Given the description of an element on the screen output the (x, y) to click on. 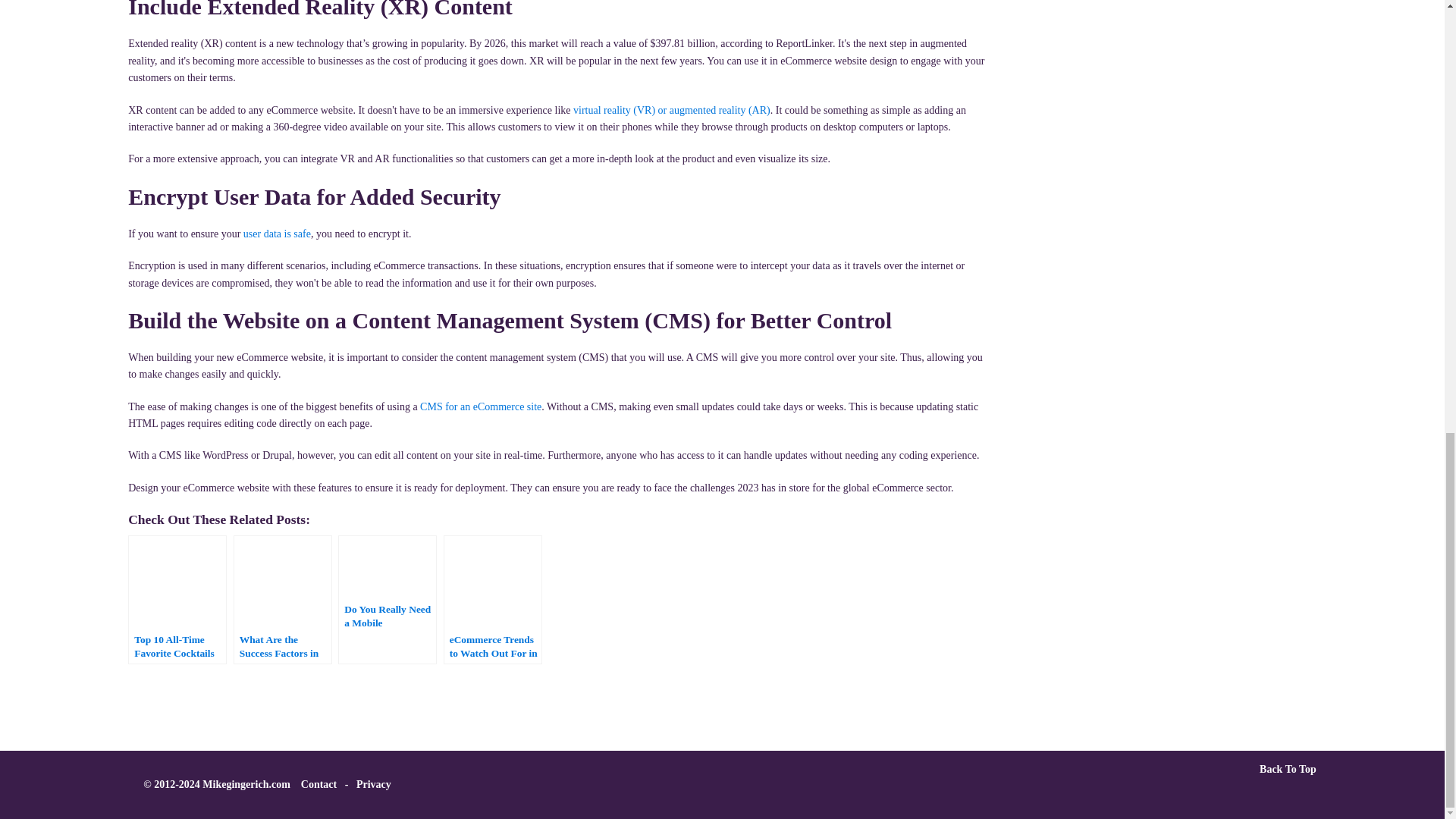
What Are the Success Factors in Mobile eCommerce (281, 599)
Do You Really Need a Mobile Ecommerce App? (386, 599)
Top 10 All-Time Favorite Cocktails You Must Try (177, 599)
eCommerce Trends to Watch Out For in 2023 (492, 599)
